Given the description of an element on the screen output the (x, y) to click on. 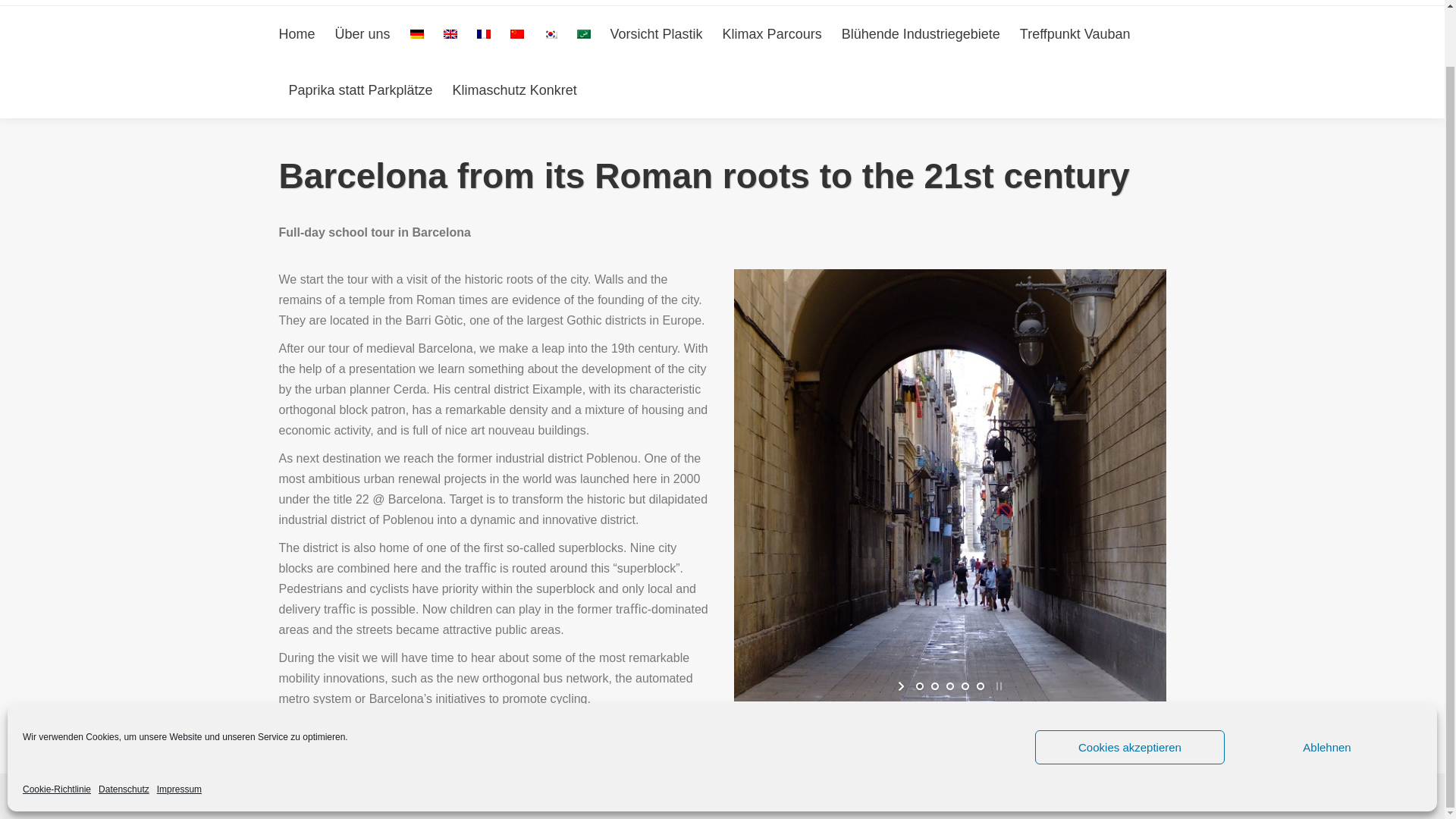
Treffpunkt Vauban (1075, 33)
Klimax Parcours (772, 33)
Vorsicht Plastik (656, 33)
Home (297, 33)
Ablehnen (1326, 685)
Klimaschutz Konkret (514, 89)
Datenschutz (124, 728)
Impressum (179, 728)
Cookies akzeptieren (1129, 685)
Cookie-Richtlinie (56, 728)
